Given the description of an element on the screen output the (x, y) to click on. 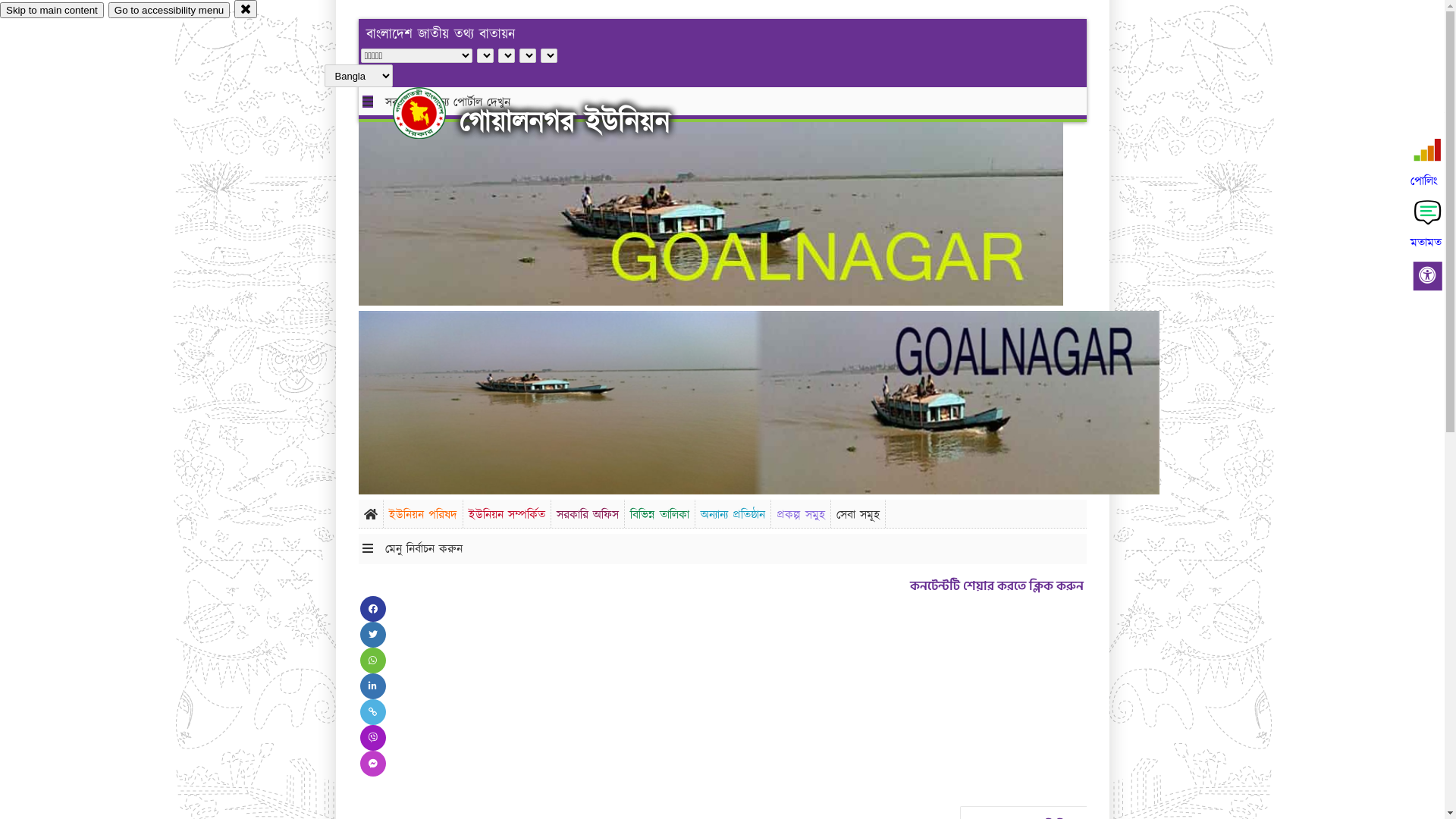

                
             Element type: hover (431, 112)
Go to accessibility menu Element type: text (168, 10)
Skip to main content Element type: text (51, 10)
close Element type: hover (245, 9)
